Given the description of an element on the screen output the (x, y) to click on. 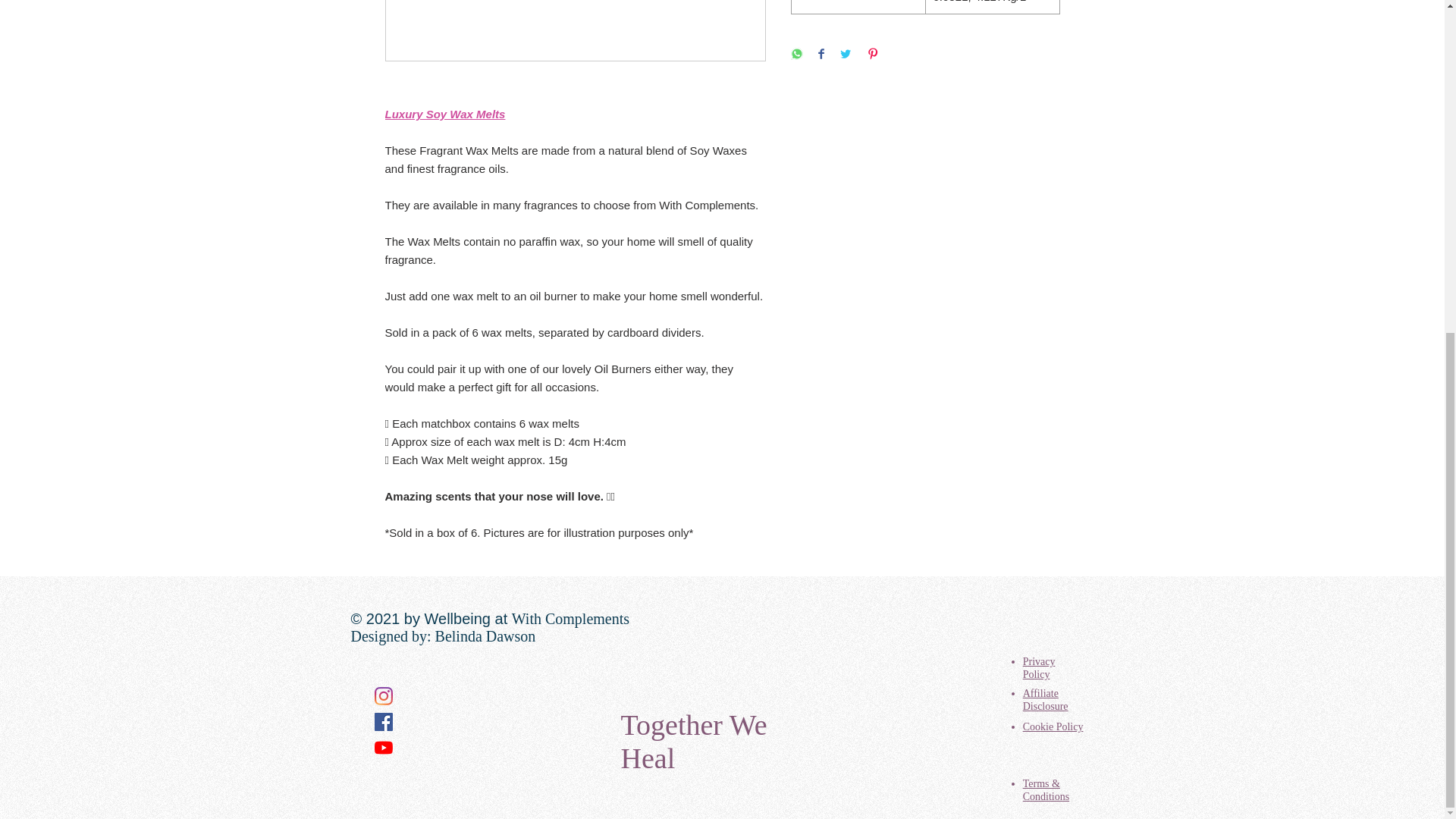
Affiliate Disclosure (1045, 699)
Privacy Policy (1039, 667)
Cookie Policy (1053, 726)
